Given the description of an element on the screen output the (x, y) to click on. 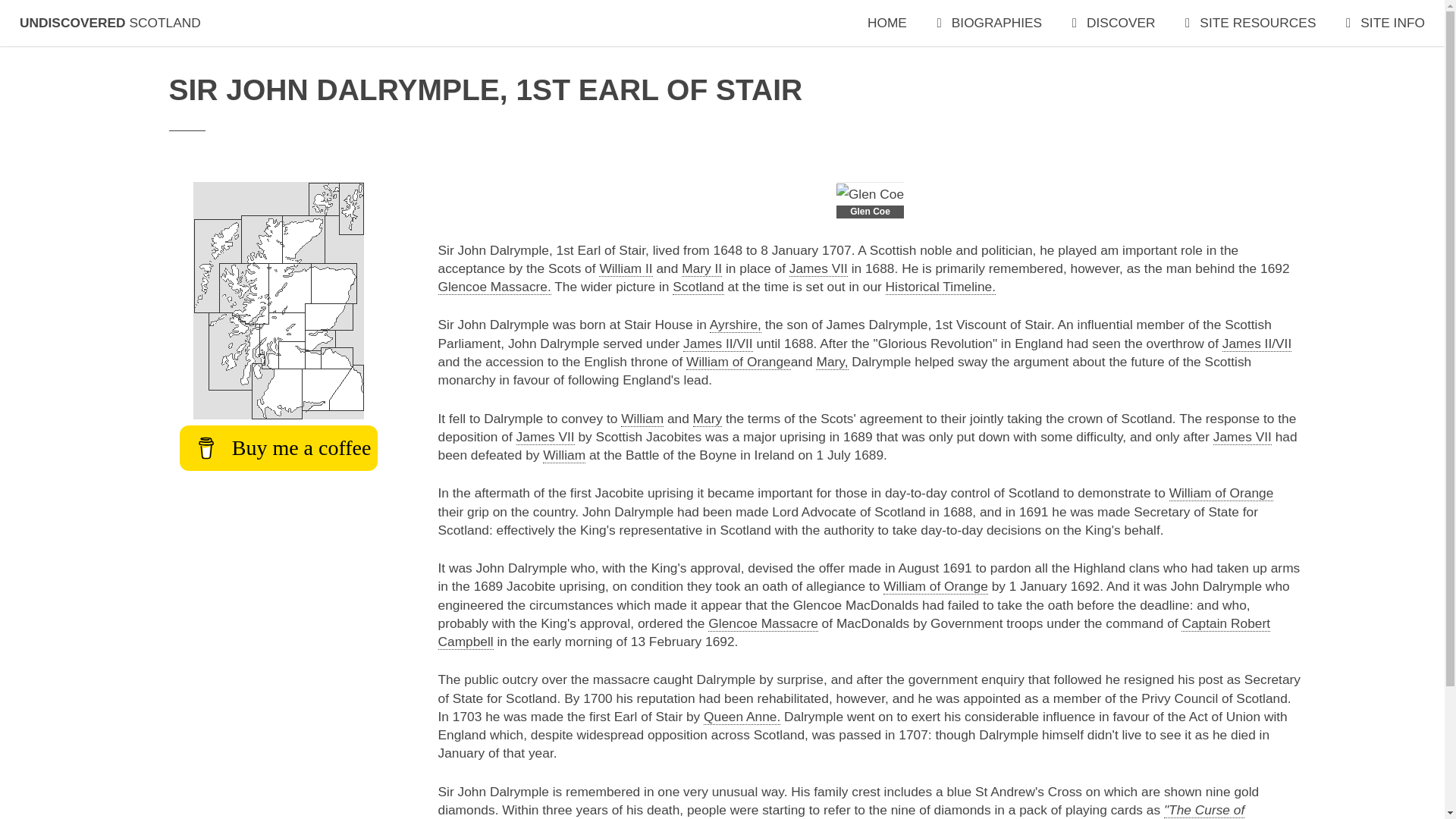
UNDISCOVERED SCOTLAND (110, 22)
BIOGRAPHIES (989, 22)
HOME (887, 22)
DISCOVER (1113, 22)
